Given the description of an element on the screen output the (x, y) to click on. 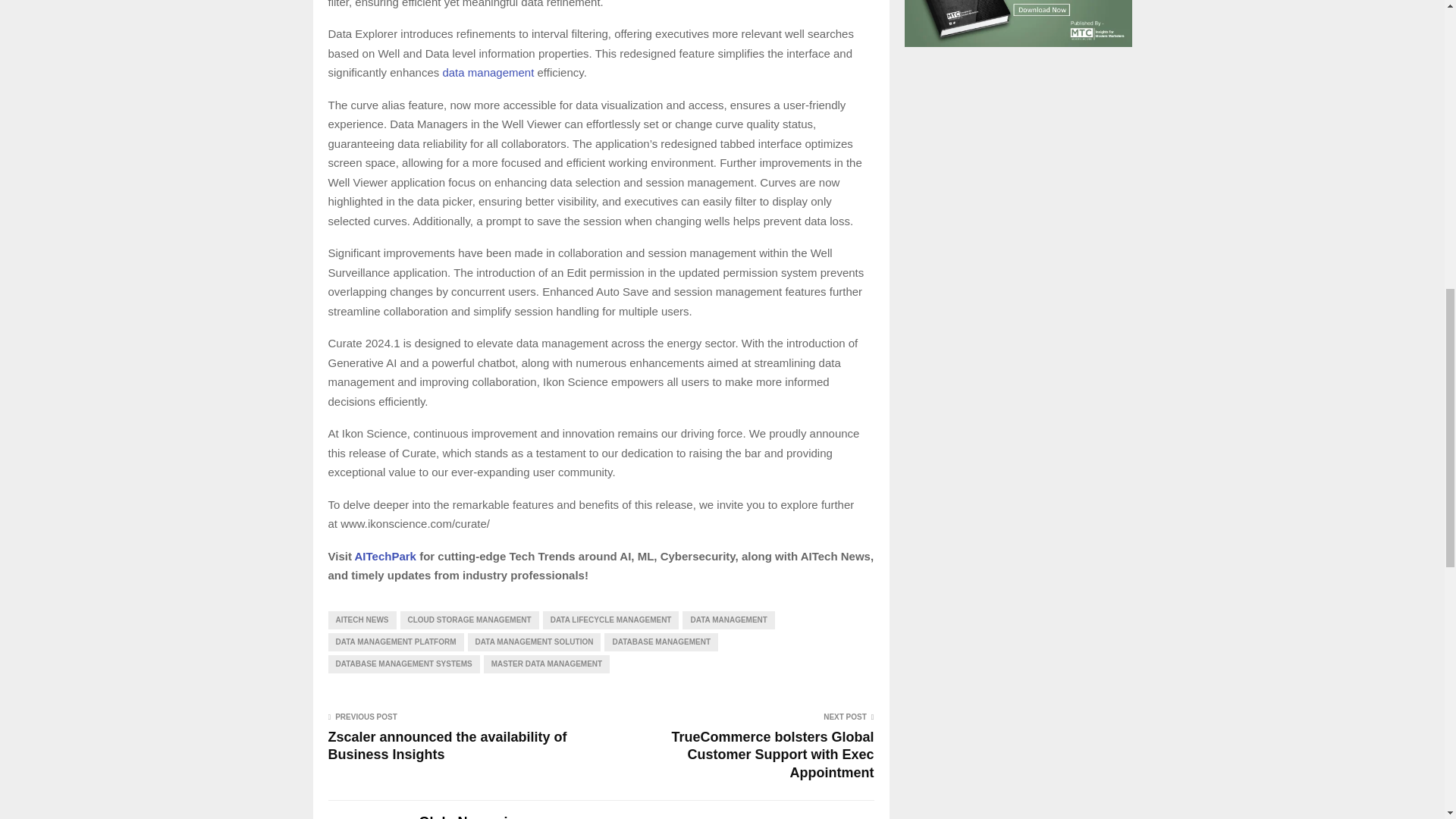
Posts by GlobeNewswire (469, 816)
